Given the description of an element on the screen output the (x, y) to click on. 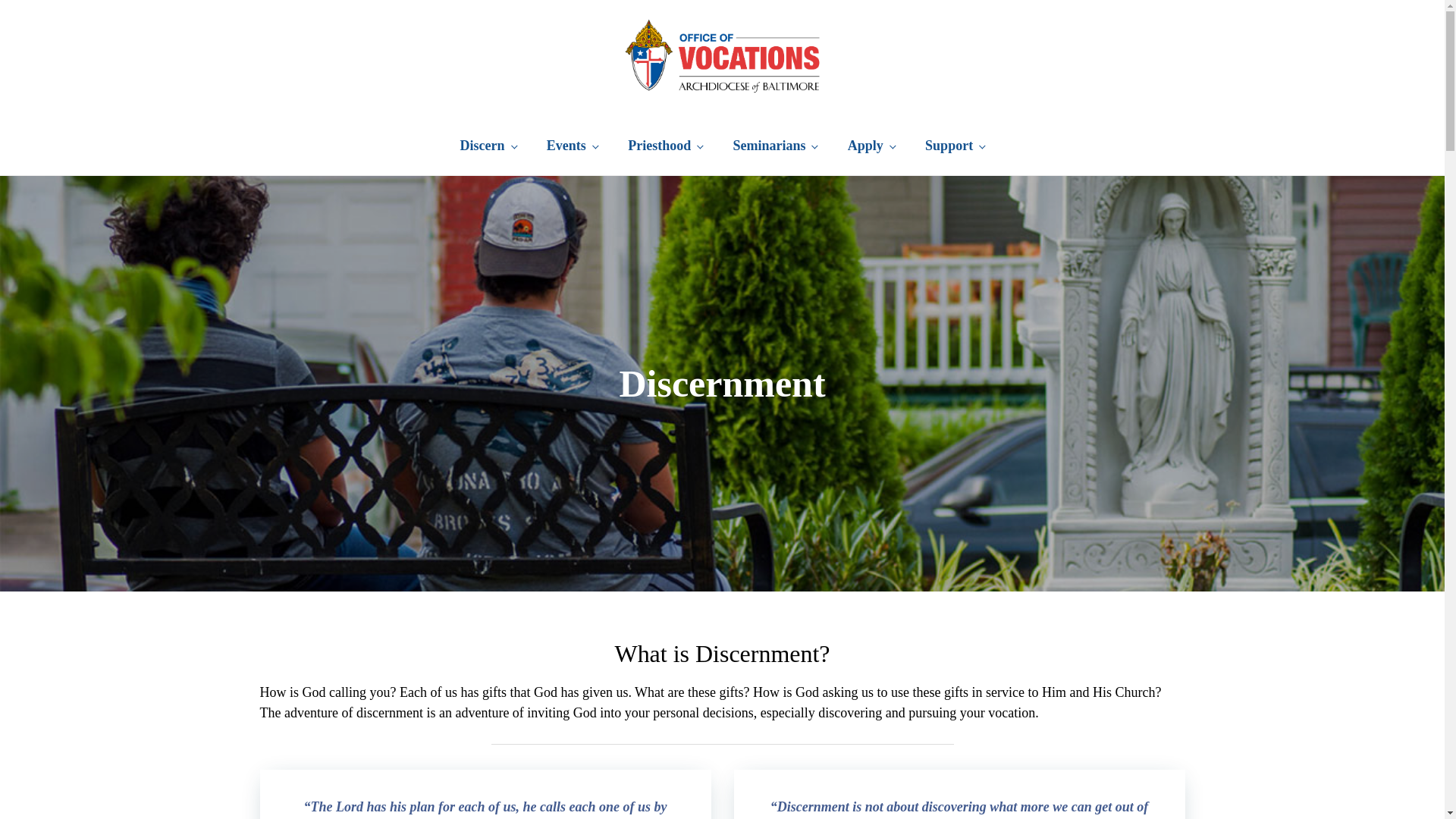
Priesthood (664, 145)
Events (571, 145)
Discern (488, 145)
Seminarians (774, 145)
Apply (871, 145)
Support (954, 145)
